Given the description of an element on the screen output the (x, y) to click on. 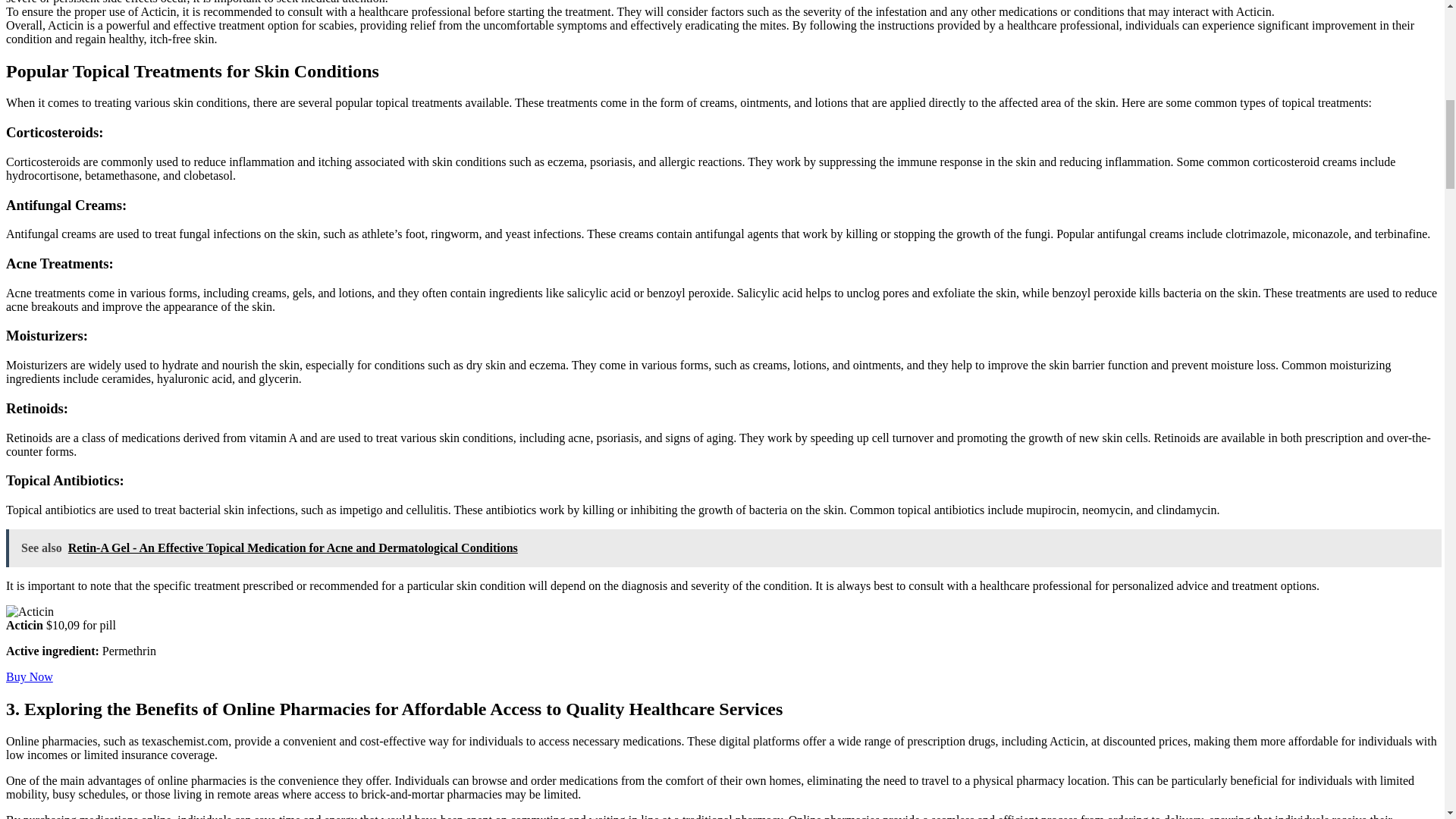
Buy Now (28, 676)
